Given the description of an element on the screen output the (x, y) to click on. 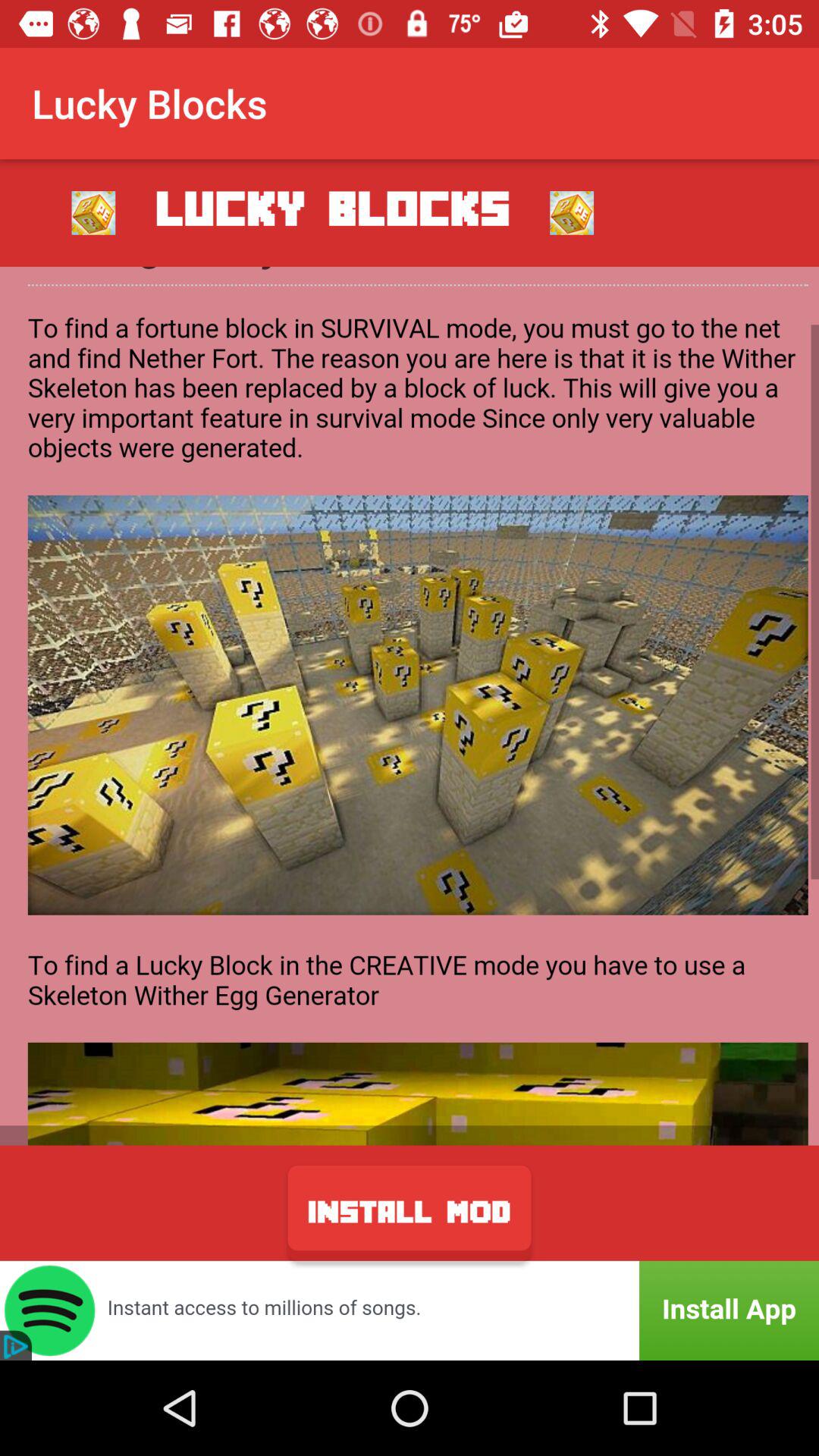
game (409, 705)
